Given the description of an element on the screen output the (x, y) to click on. 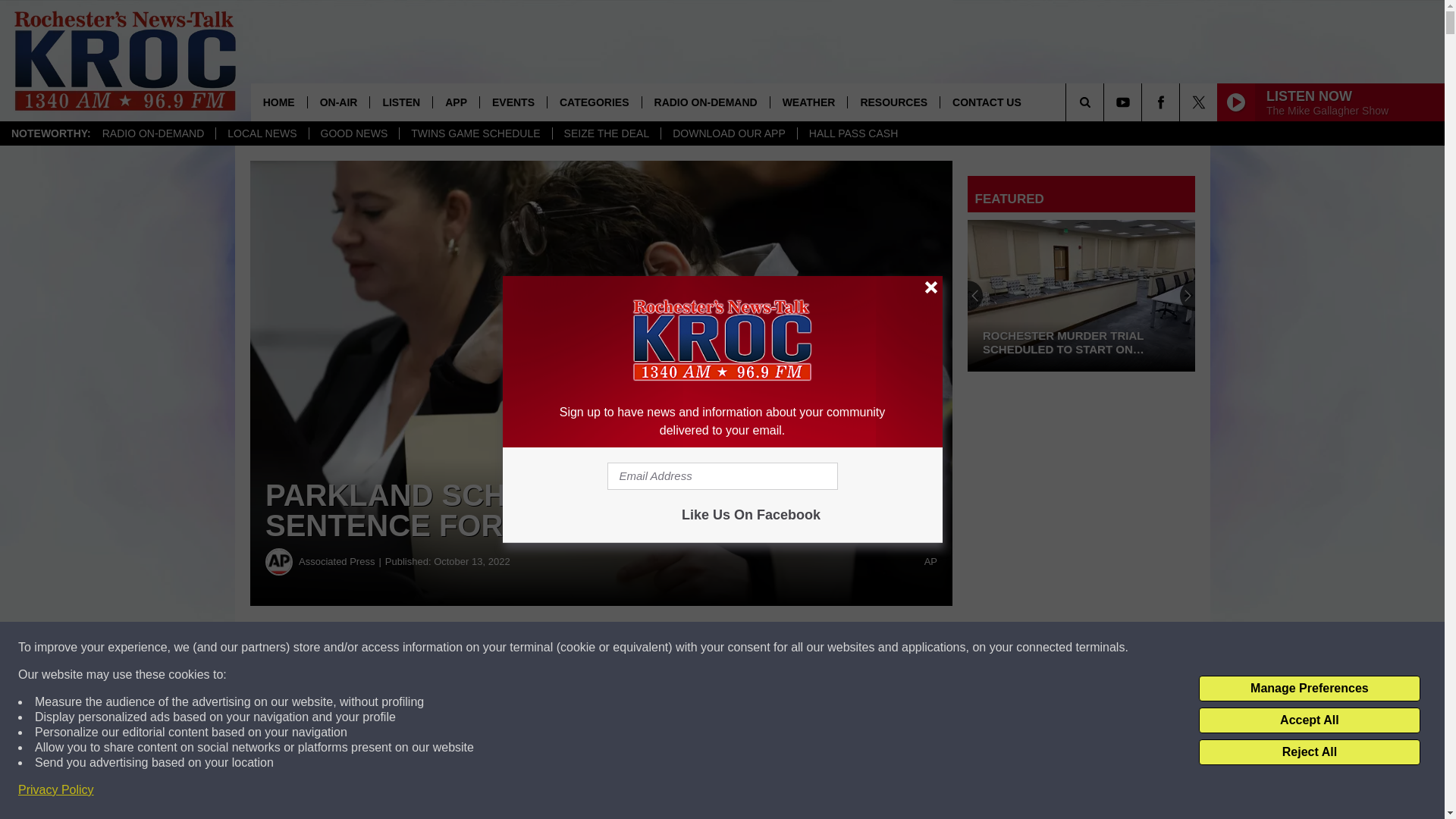
ON-AIR (338, 102)
GOOD NEWS (353, 133)
SEARCH (1106, 102)
LOCAL NEWS (261, 133)
LISTEN (400, 102)
TWINS GAME SCHEDULE (474, 133)
HOME (278, 102)
SEIZE THE DEAL (606, 133)
DOWNLOAD OUR APP (728, 133)
SEARCH (1106, 102)
Share on Facebook (460, 647)
Email Address (722, 475)
Privacy Policy (55, 789)
Reject All (1309, 751)
HALL PASS CASH (853, 133)
